Given the description of an element on the screen output the (x, y) to click on. 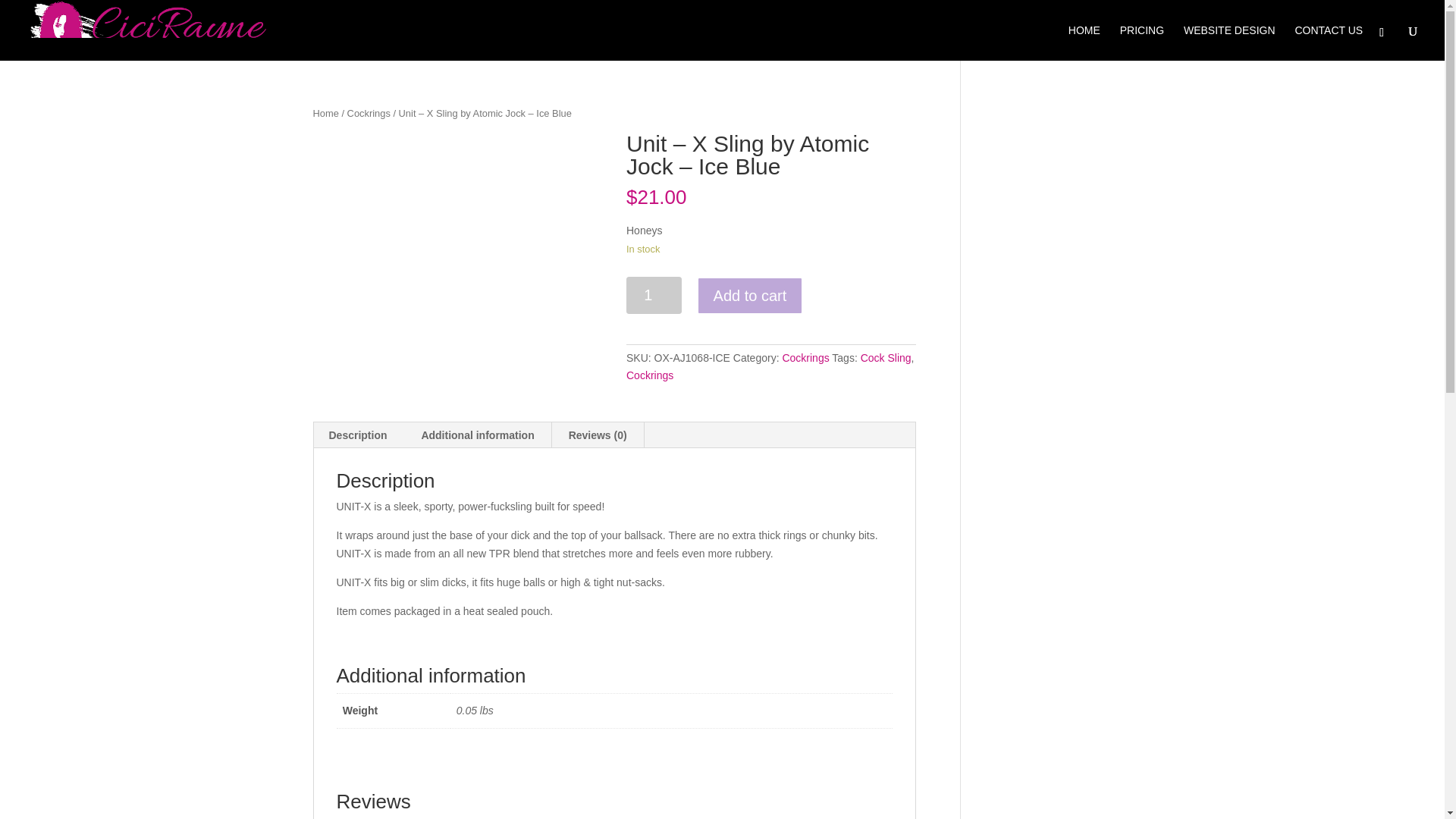
Cockrings (368, 112)
Additional information (477, 434)
Cockrings (804, 357)
Add to cart (750, 295)
Cockrings (649, 375)
Description (358, 434)
Home (325, 112)
CONTACT US (1328, 42)
PRICING (1141, 42)
HOME (1084, 42)
WEBSITE DESIGN (1229, 42)
Cock Sling (885, 357)
1 (653, 294)
